Given the description of an element on the screen output the (x, y) to click on. 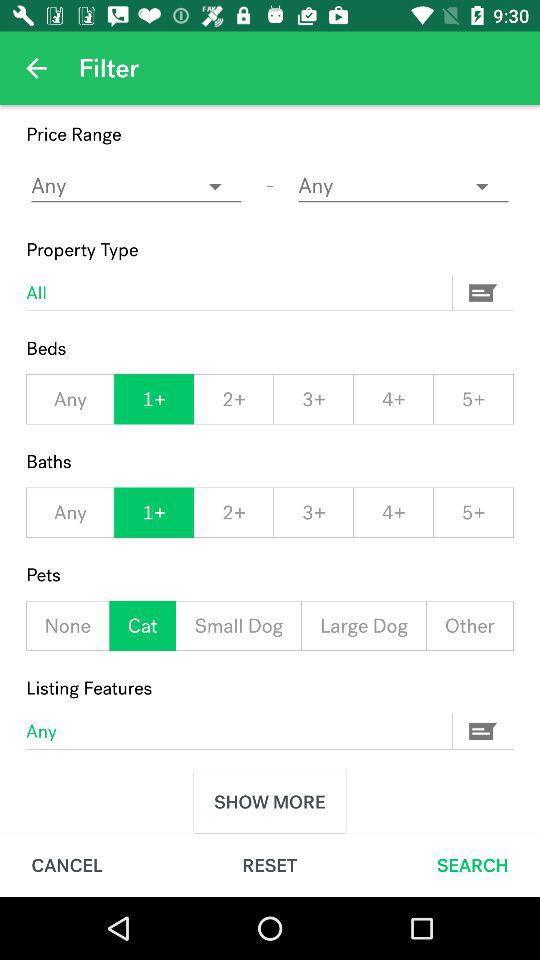
click on second drop down (403, 186)
click on the show more button (269, 802)
select the 2nd option 2 on the web page (233, 512)
select the first option 2 on the web page (233, 399)
select the button which is next to the any (483, 731)
select the text which is in between none and small dog (143, 625)
select the option on the right next to the first option 2 on the web page (313, 399)
